Given the description of an element on the screen output the (x, y) to click on. 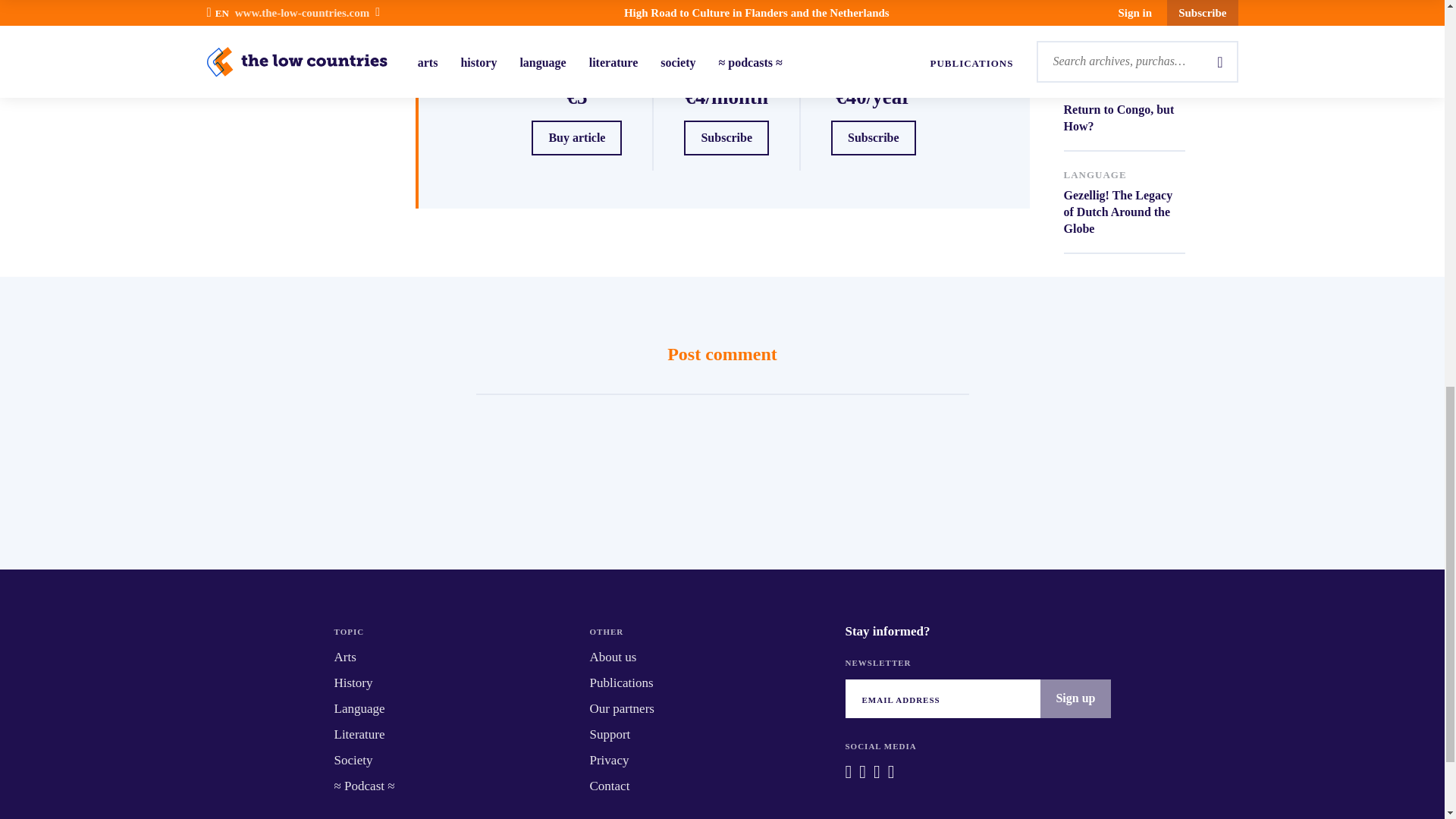
Subscribe (873, 137)
Subscribe (726, 137)
Sign up (1123, 100)
Buy article (1123, 202)
